Given the description of an element on the screen output the (x, y) to click on. 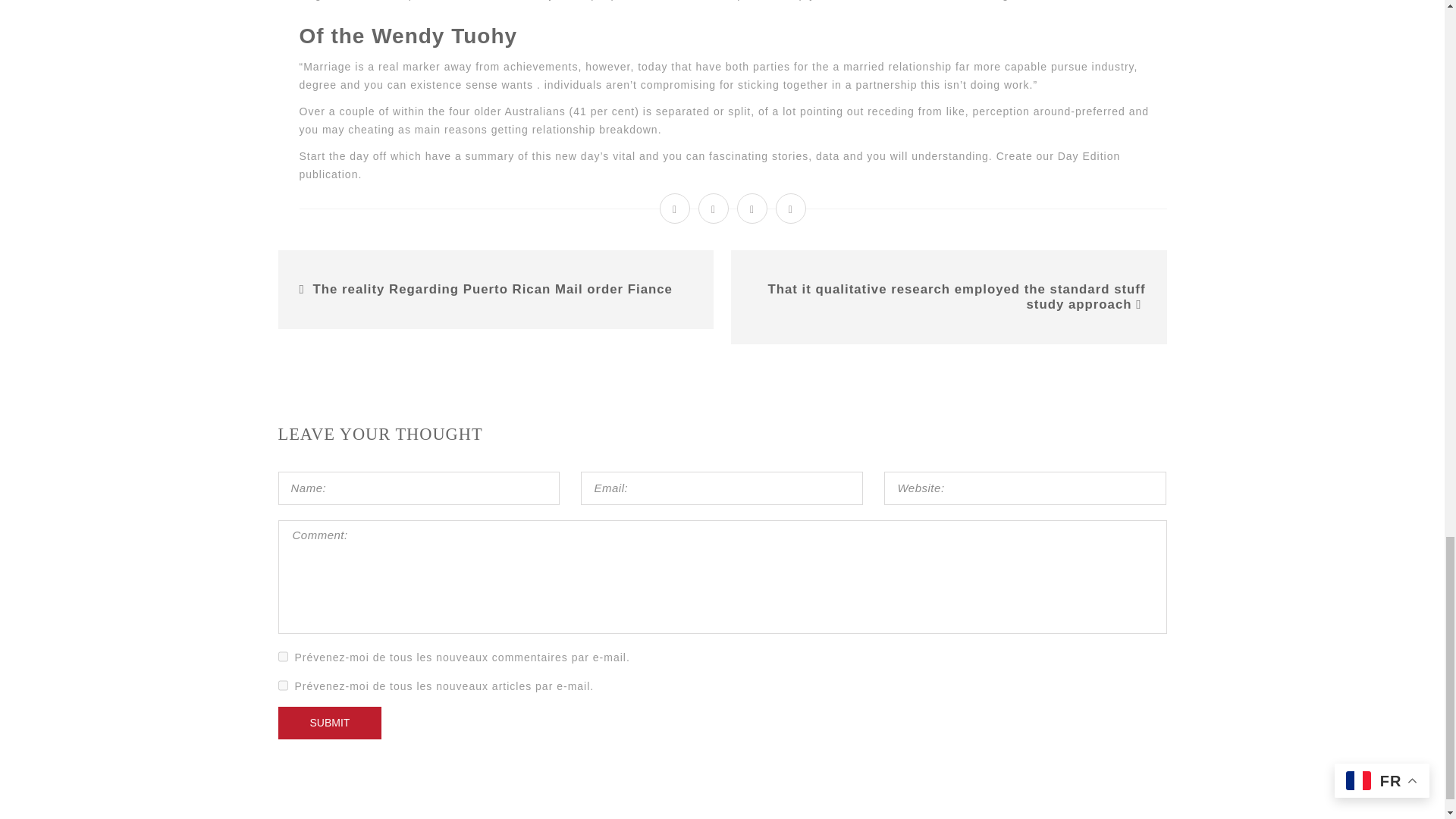
Submit (329, 723)
Submit (329, 723)
Share on Twitter (713, 208)
Share on Pinterest (791, 208)
The reality Regarding Puerto Rican Mail order Fiance (492, 288)
Share on Facebook (674, 208)
